Given the description of an element on the screen output the (x, y) to click on. 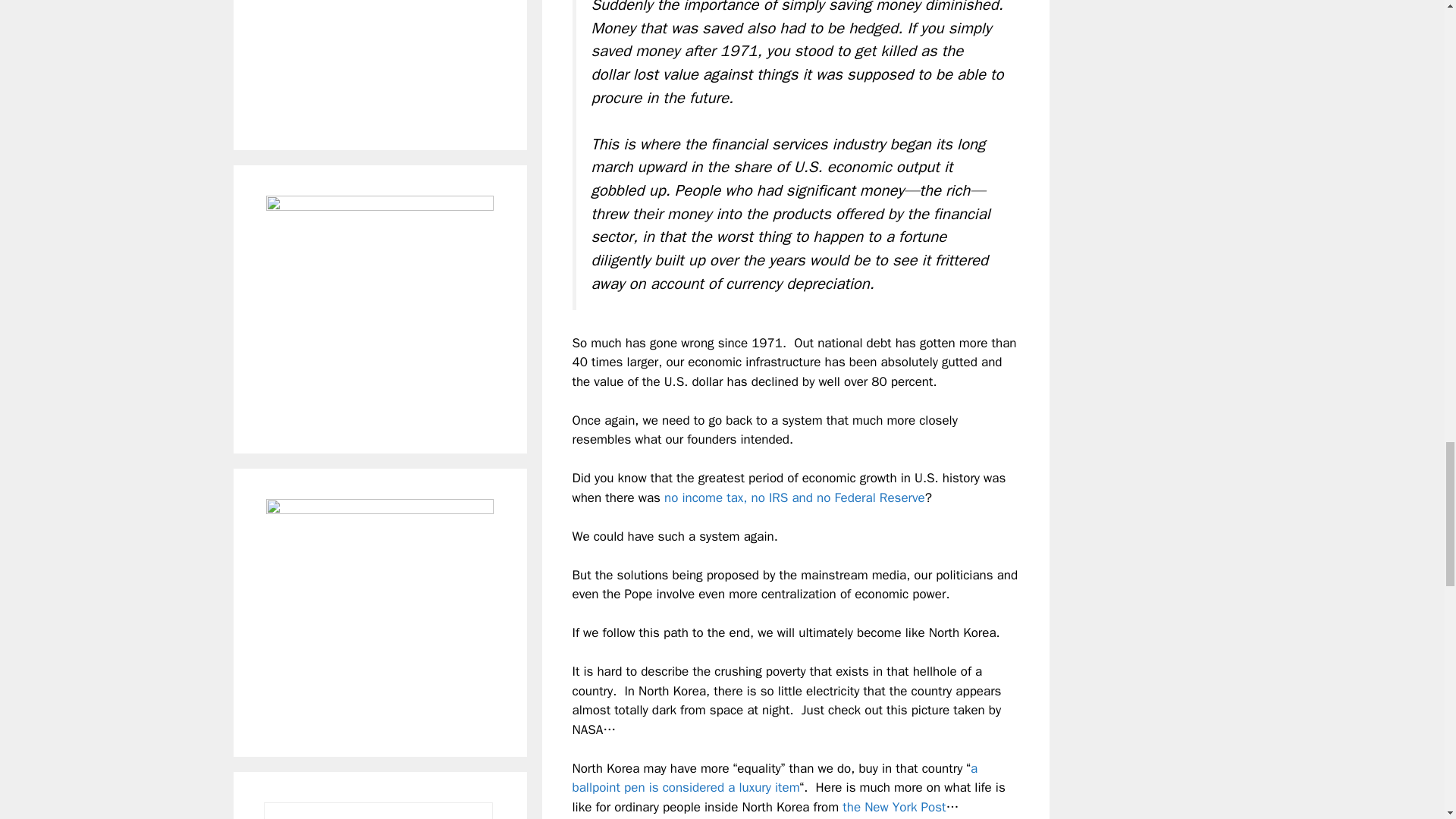
the New York Post (893, 806)
no income tax, no IRS and no Federal Reserve (793, 497)
a ballpoint pen is considered a luxury item (774, 778)
